Given the description of an element on the screen output the (x, y) to click on. 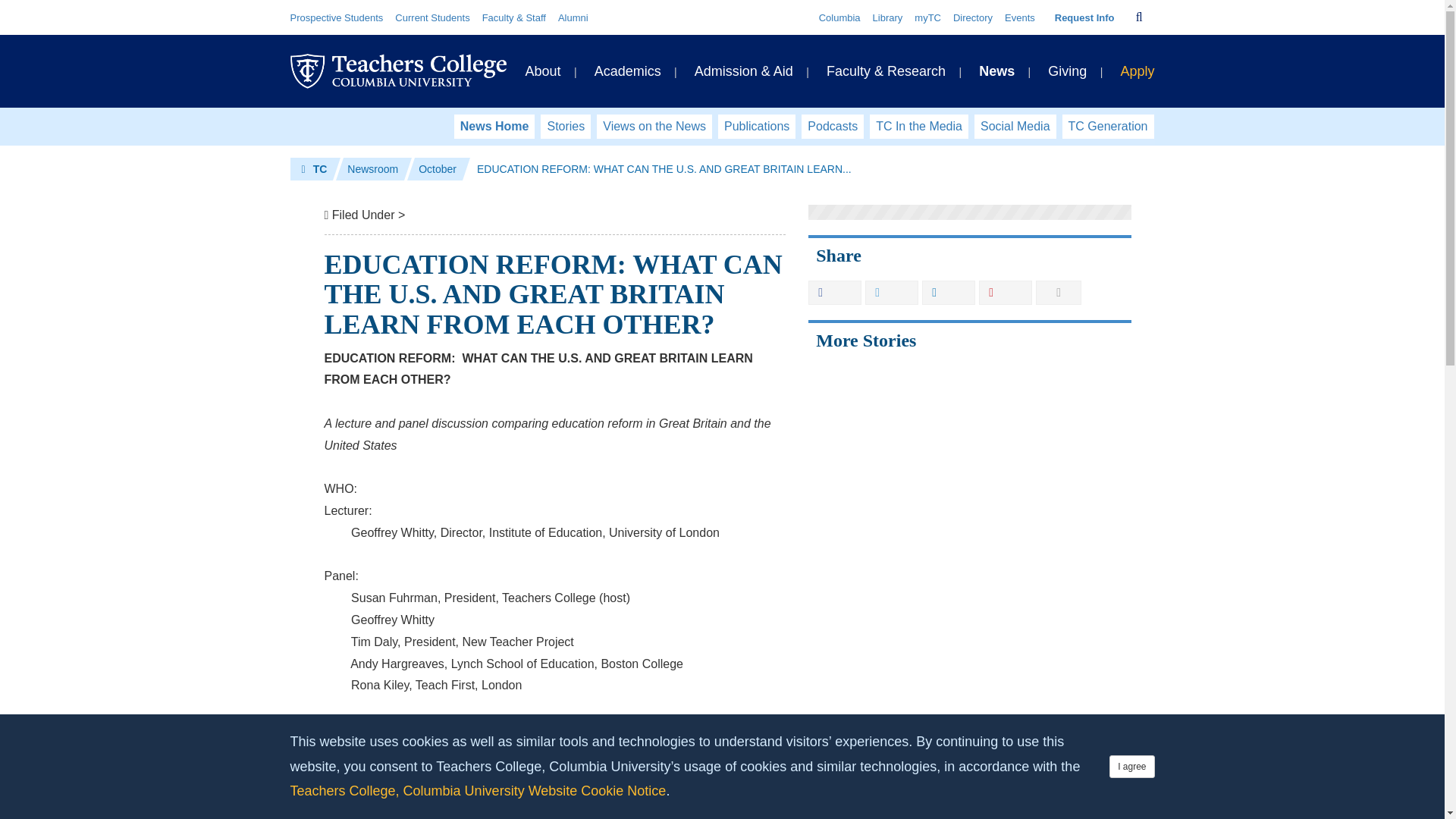
TC In the Media (918, 126)
Share via Pinterest (1005, 292)
Academics (627, 71)
Library (887, 17)
Columbia (839, 17)
Share via Facebook (834, 292)
TC Homepage (314, 168)
TC Generation (1108, 126)
Current Students (431, 17)
Giving (1067, 71)
Views on the News (653, 126)
Search Bar (1139, 17)
Directory (972, 17)
Share via Twitter (891, 292)
Share via LinkedIn (948, 292)
